Given the description of an element on the screen output the (x, y) to click on. 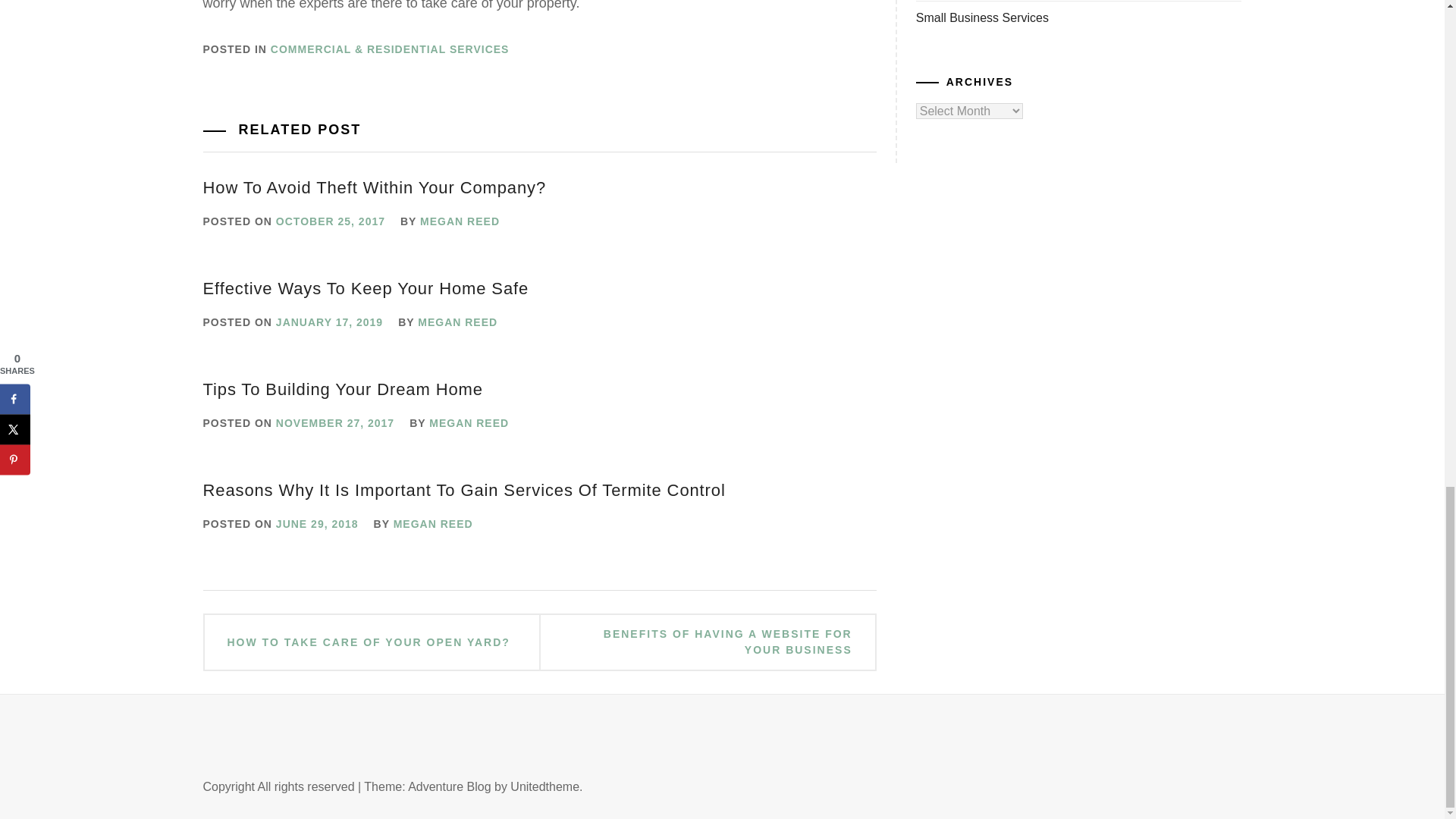
MEGAN REED (459, 221)
HOW TO TAKE CARE OF YOUR OPEN YARD? (368, 642)
NOVEMBER 27, 2017 (335, 422)
MEGAN REED (457, 322)
JUNE 29, 2018 (317, 523)
JANUARY 17, 2019 (329, 322)
BENEFITS OF HAVING A WEBSITE FOR YOUR BUSINESS (707, 642)
OCTOBER 25, 2017 (330, 221)
Tips To Building Your Dream Home (343, 389)
Effective Ways To Keep Your Home Safe (366, 288)
